Given the description of an element on the screen output the (x, y) to click on. 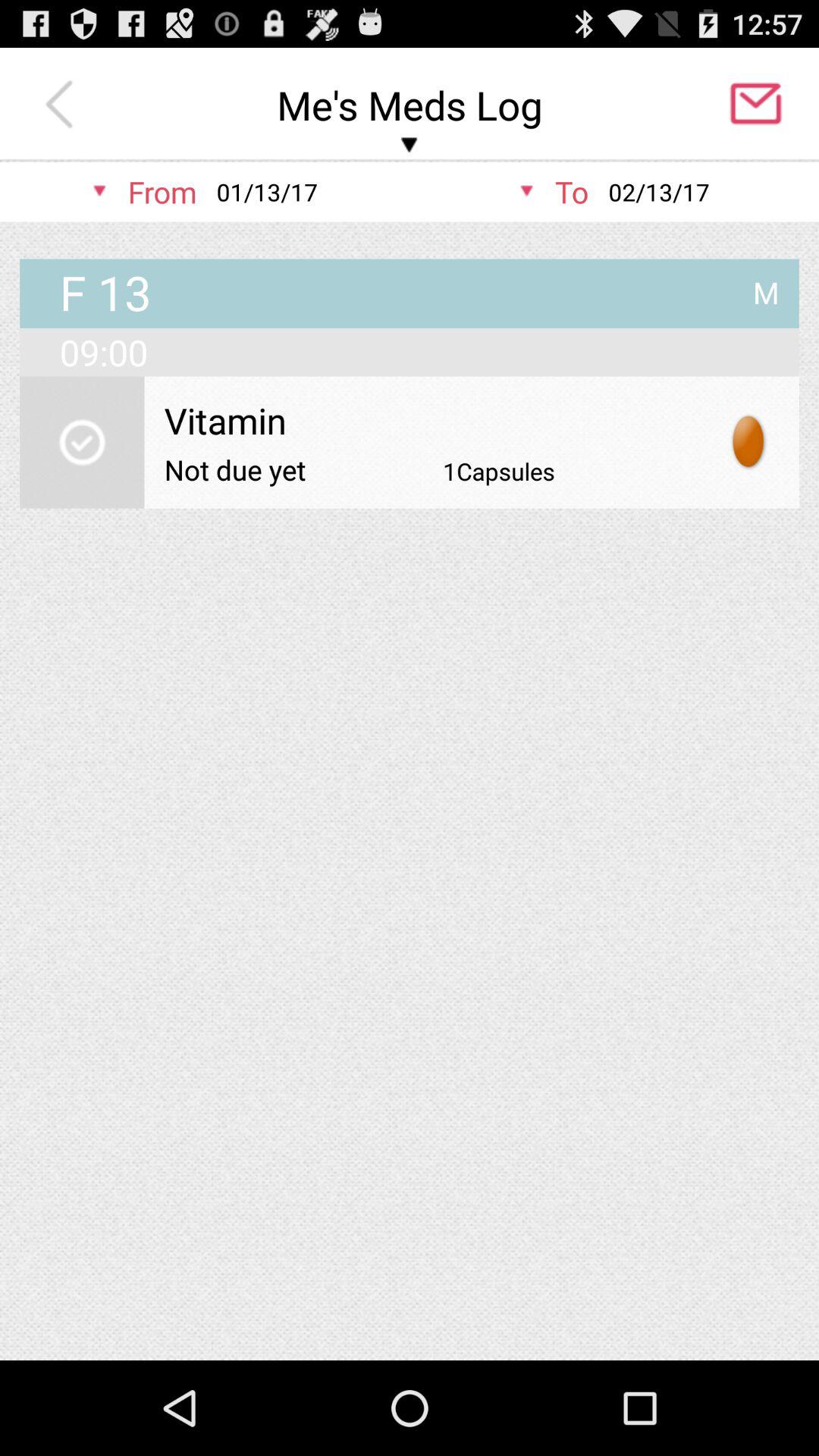
launch the item to the right of the not due yet item (499, 471)
